Given the description of an element on the screen output the (x, y) to click on. 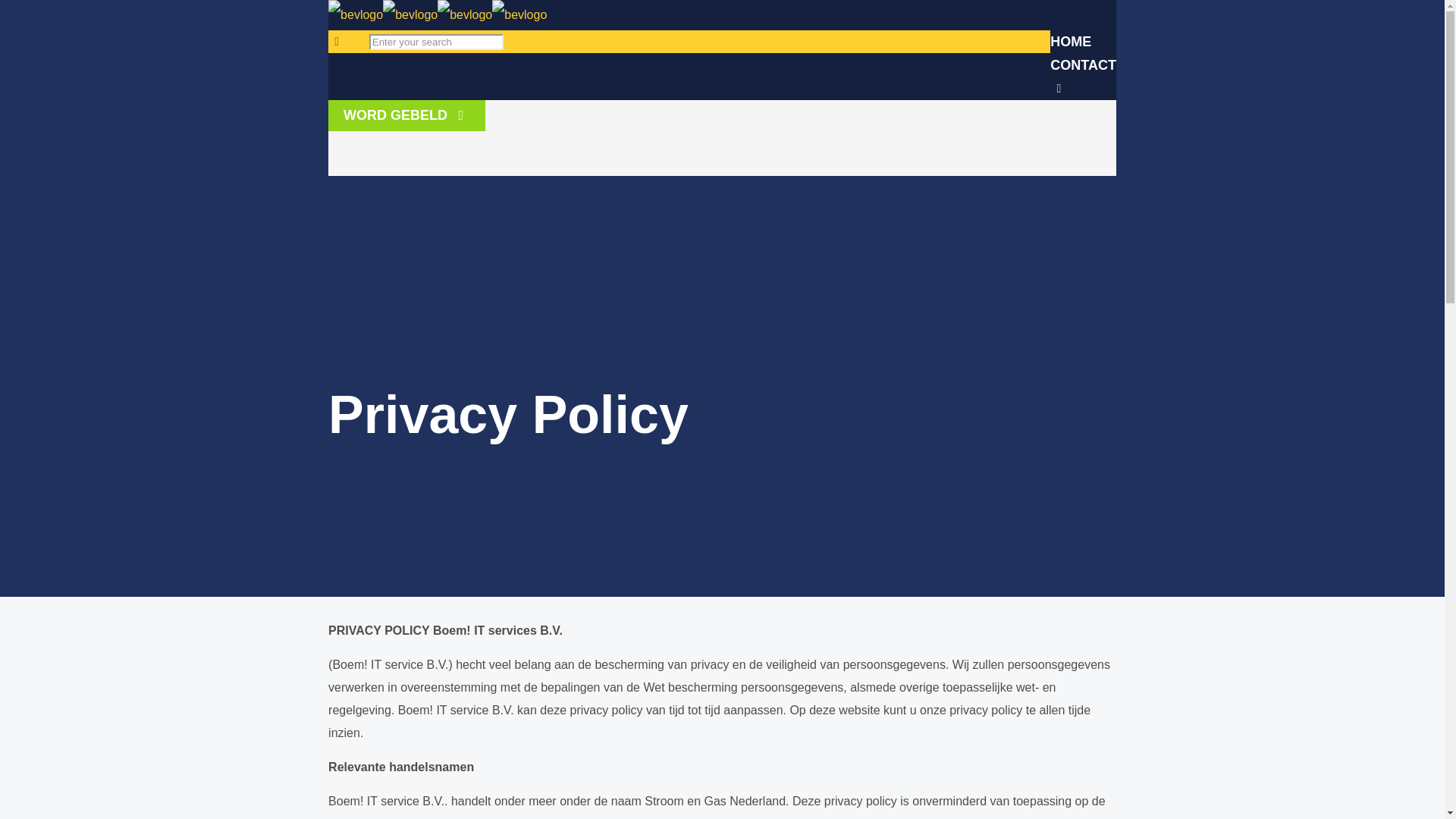
HOME Element type: text (1070, 41)
CONTACT Element type: text (1083, 64)
WORD GEBELD Element type: text (406, 115)
